Given the description of an element on the screen output the (x, y) to click on. 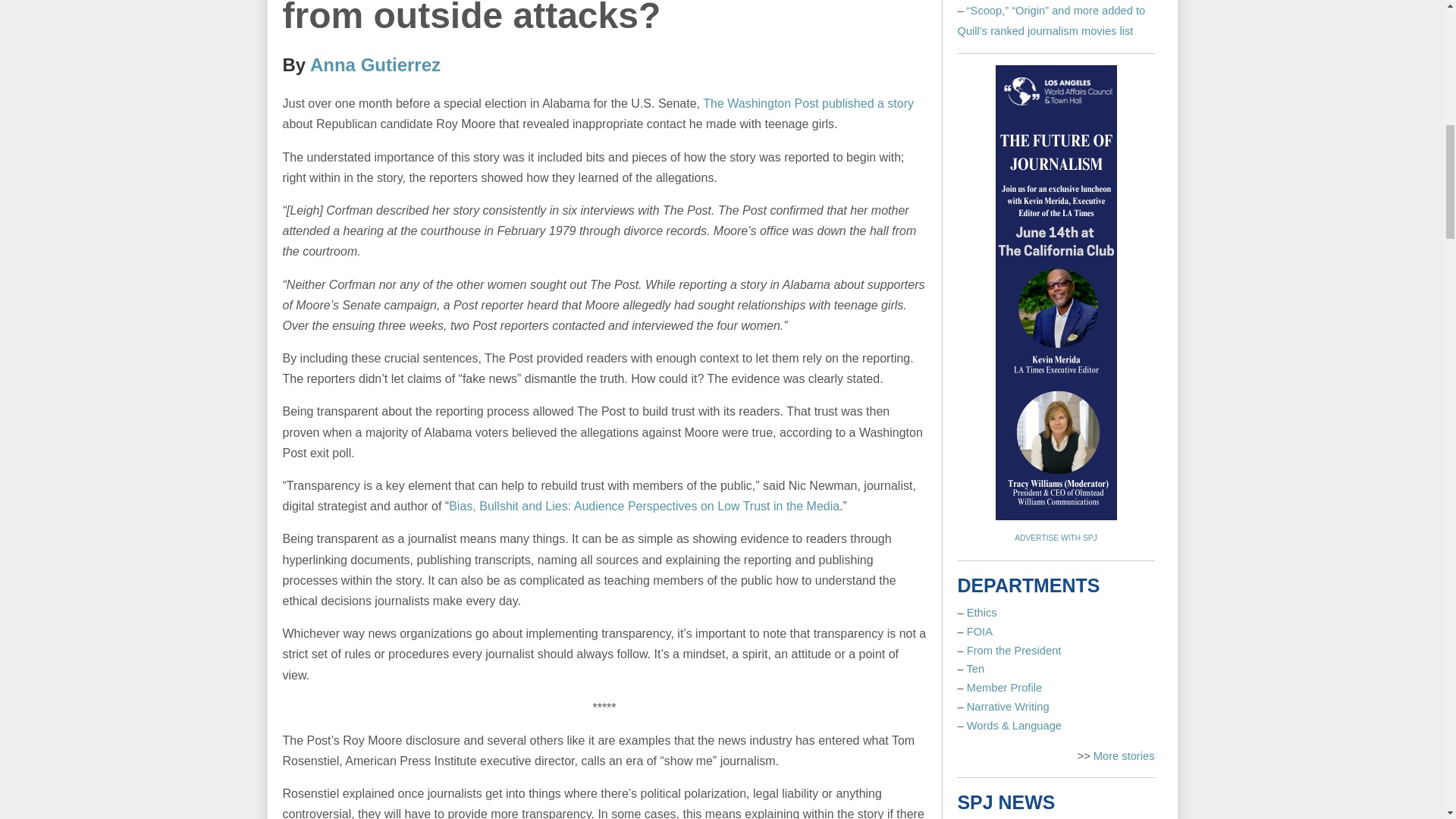
Anna Gutierrez (375, 64)
The Washington Post published a story (808, 103)
